Given the description of an element on the screen output the (x, y) to click on. 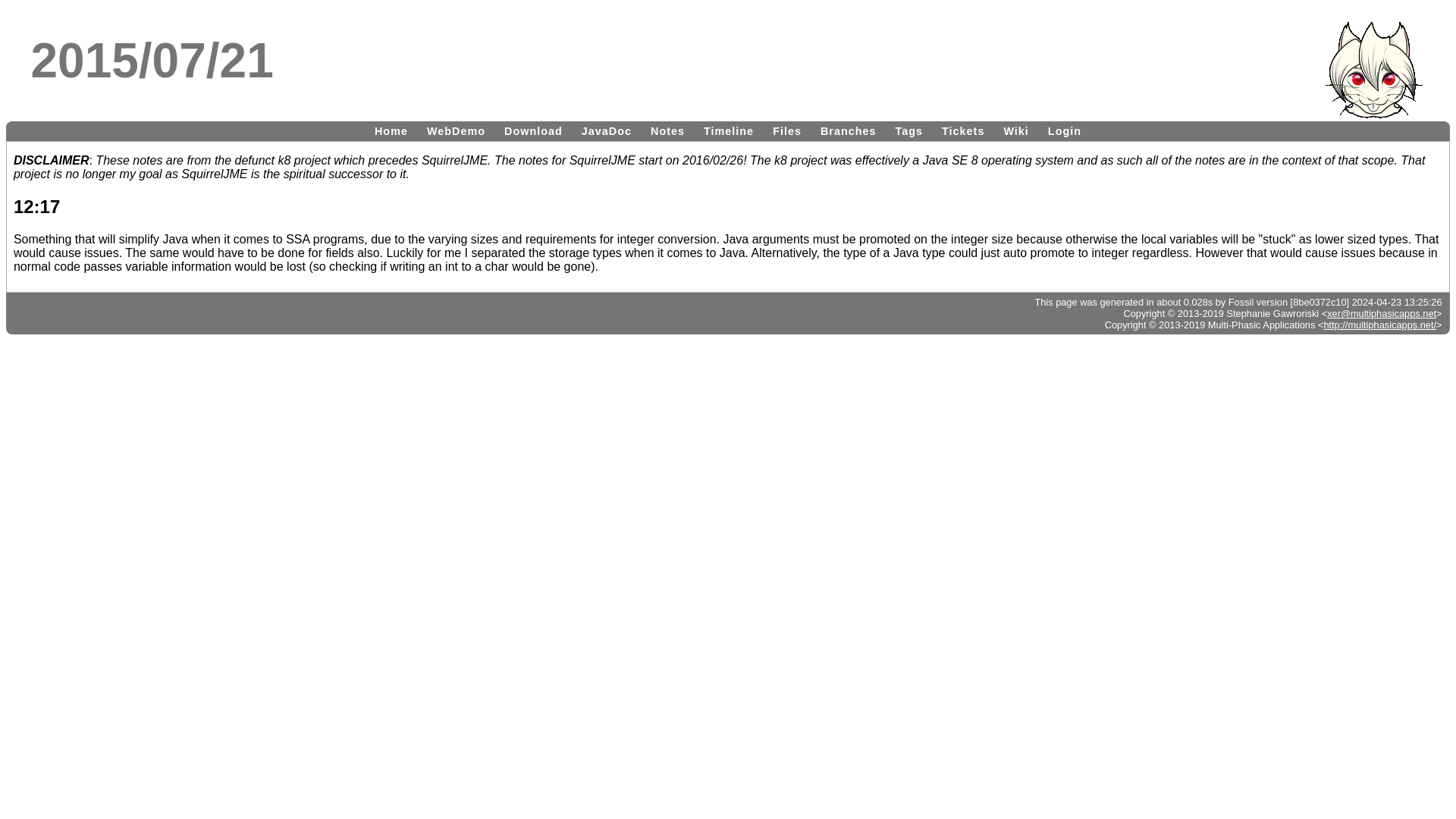
Download (533, 130)
Wiki (1015, 130)
Timeline (728, 130)
Tags (909, 130)
Notes (668, 130)
Login (1065, 130)
Files (787, 130)
Home (390, 130)
Branches (847, 130)
Lex the SquirrelJME mascot! (1373, 69)
